Given the description of an element on the screen output the (x, y) to click on. 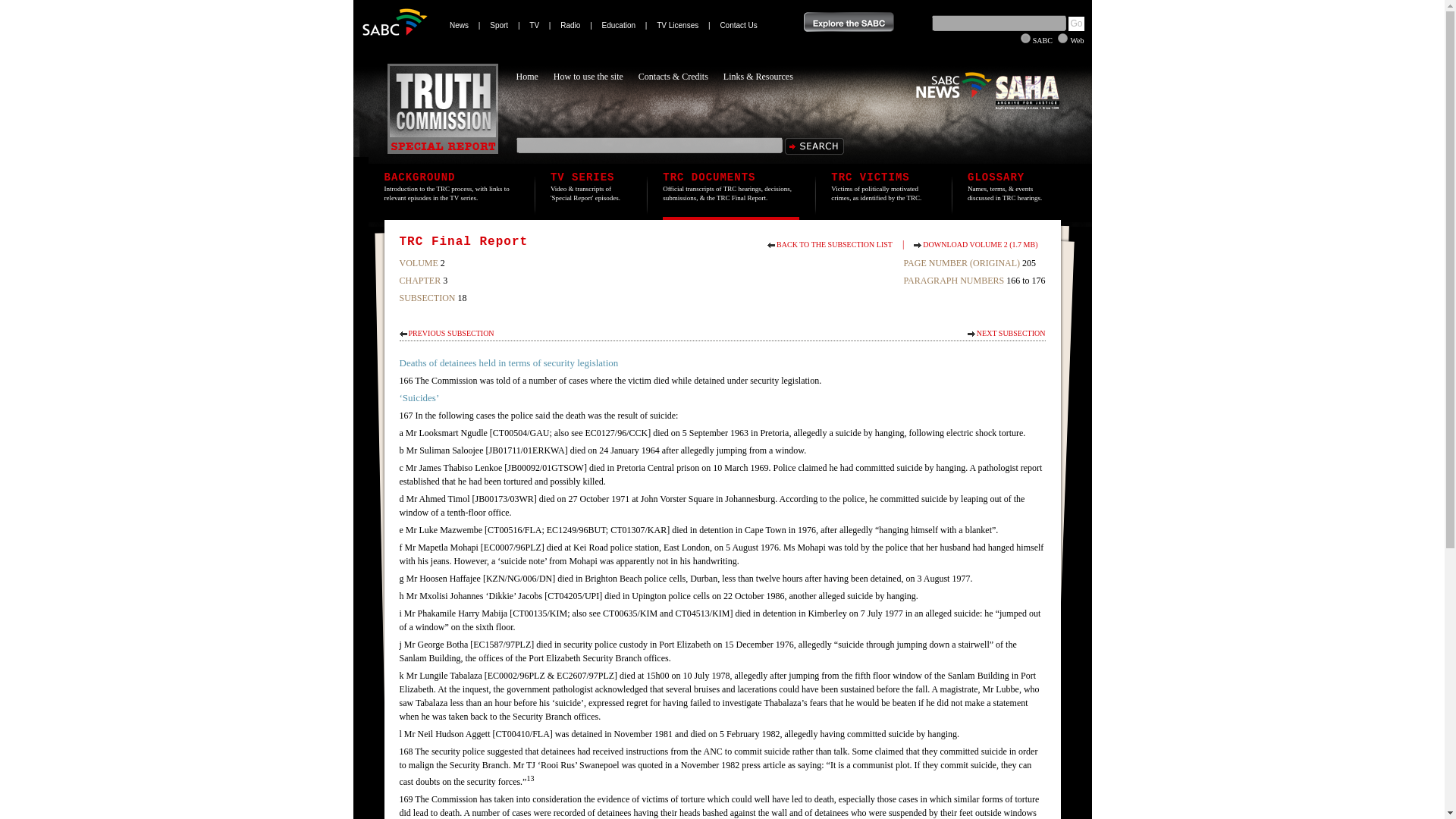
SABC (1025, 38)
TV Licenses (677, 24)
Web (1062, 38)
News (458, 24)
Go (1075, 23)
How to use the site (596, 76)
Home (534, 76)
Search (813, 146)
Radio (569, 24)
Contact Us (738, 24)
Go (1075, 23)
Education (618, 24)
Sport (498, 24)
Search (813, 146)
